Given the description of an element on the screen output the (x, y) to click on. 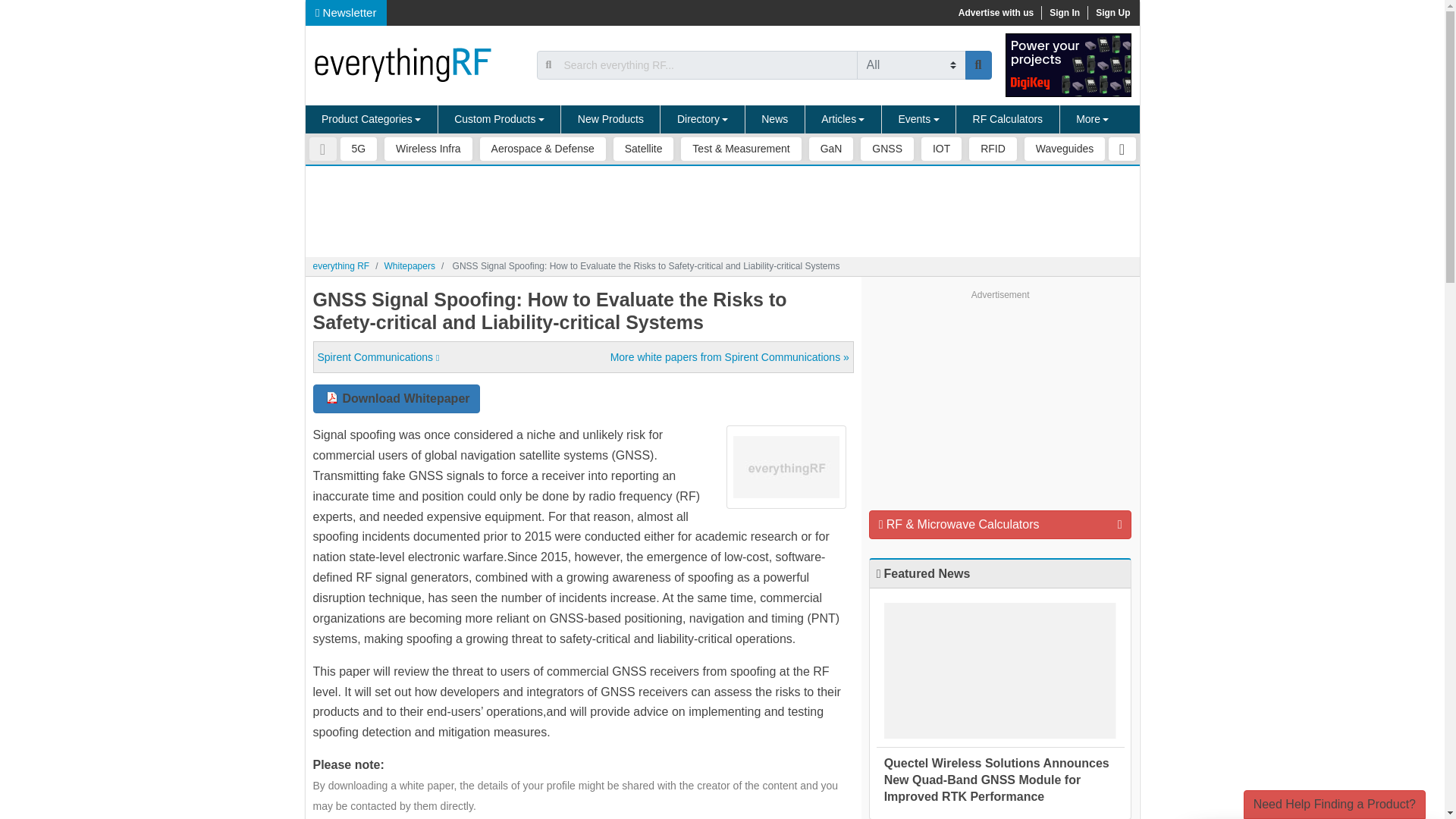
Newsletter (345, 12)
Advertise with us (995, 12)
Product Categories (371, 119)
Sign In (1064, 12)
Sign Up (1112, 12)
